Given the description of an element on the screen output the (x, y) to click on. 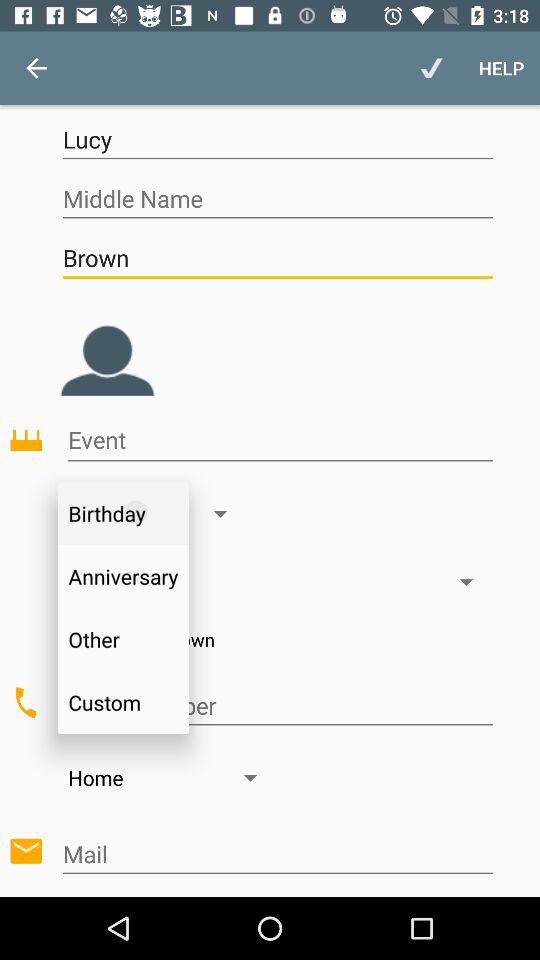
text box for your phone number (277, 705)
